Given the description of an element on the screen output the (x, y) to click on. 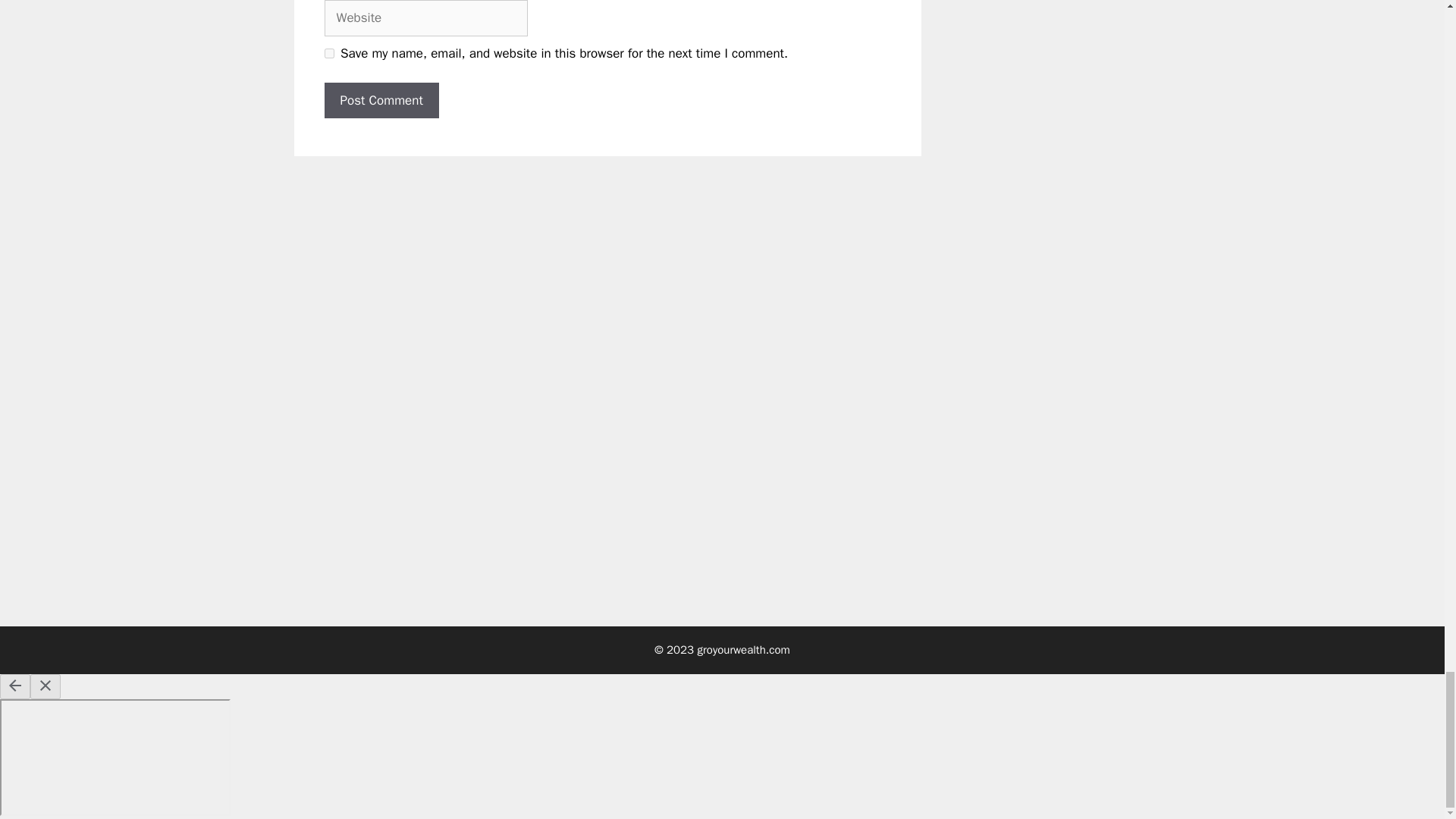
Post Comment (381, 100)
yes (329, 53)
